Given the description of an element on the screen output the (x, y) to click on. 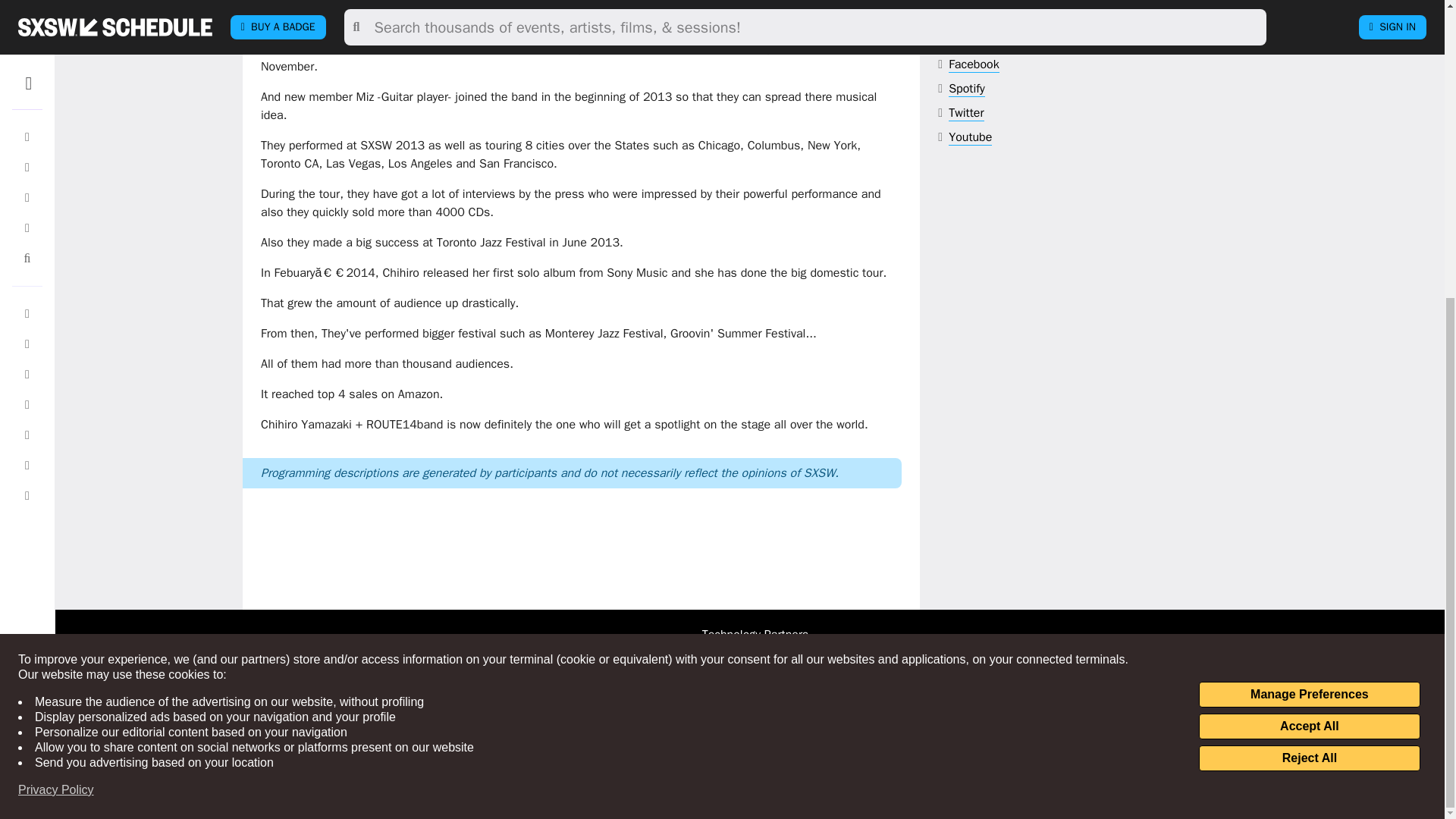
Reject All (1309, 298)
website (989, 40)
twitter (966, 113)
facebook (973, 64)
spotify (967, 89)
Accept All (1309, 266)
Manage Preferences (1309, 234)
Privacy Policy (55, 329)
youtube (970, 137)
